Given the description of an element on the screen output the (x, y) to click on. 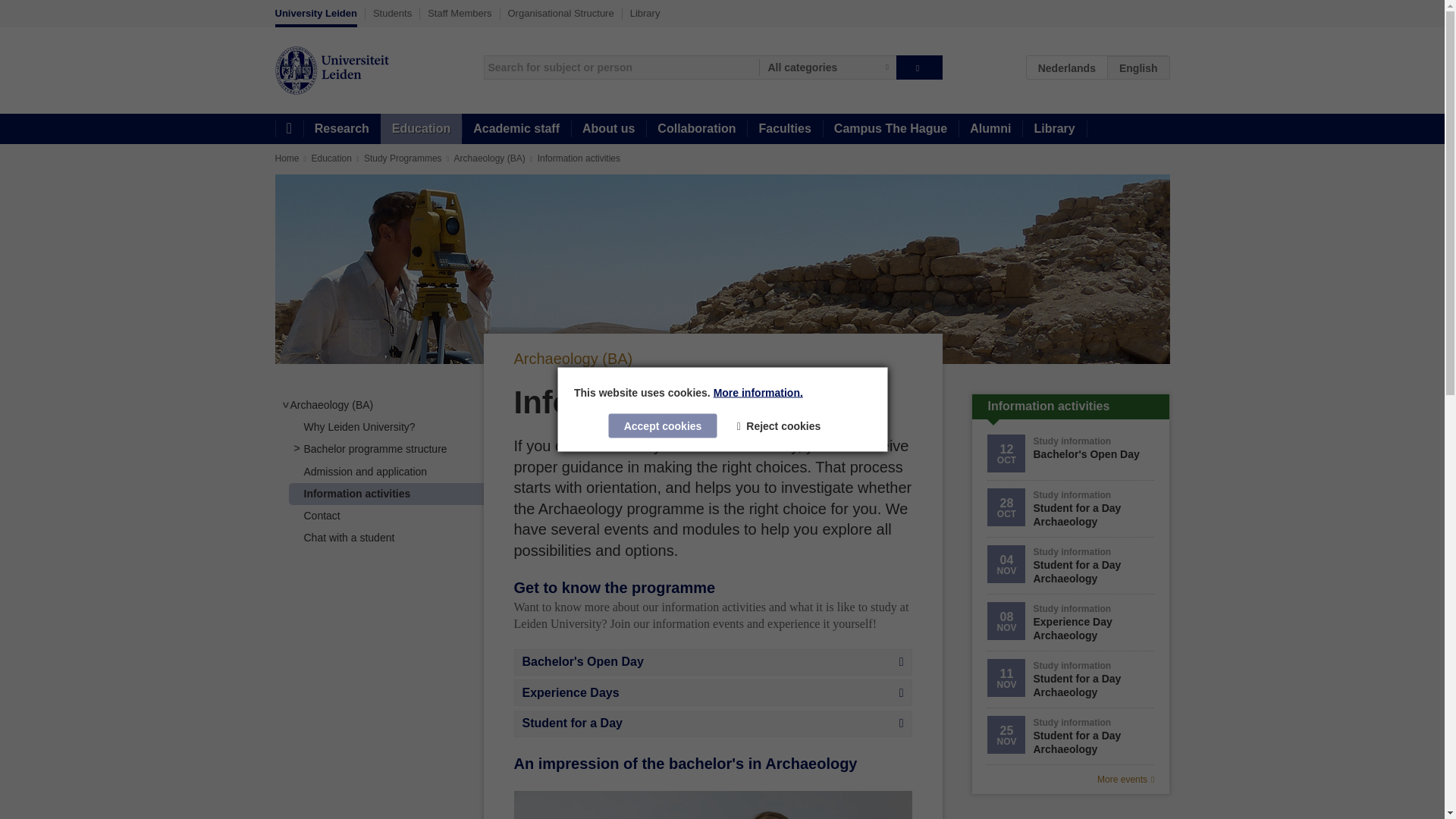
October (1006, 513)
Library (645, 13)
Contact (320, 515)
Search (919, 67)
Why Leiden University? (358, 426)
Staff Members (460, 13)
NL (1067, 67)
Education (420, 128)
Bachelor programme structure (374, 449)
Students (392, 13)
